Given the description of an element on the screen output the (x, y) to click on. 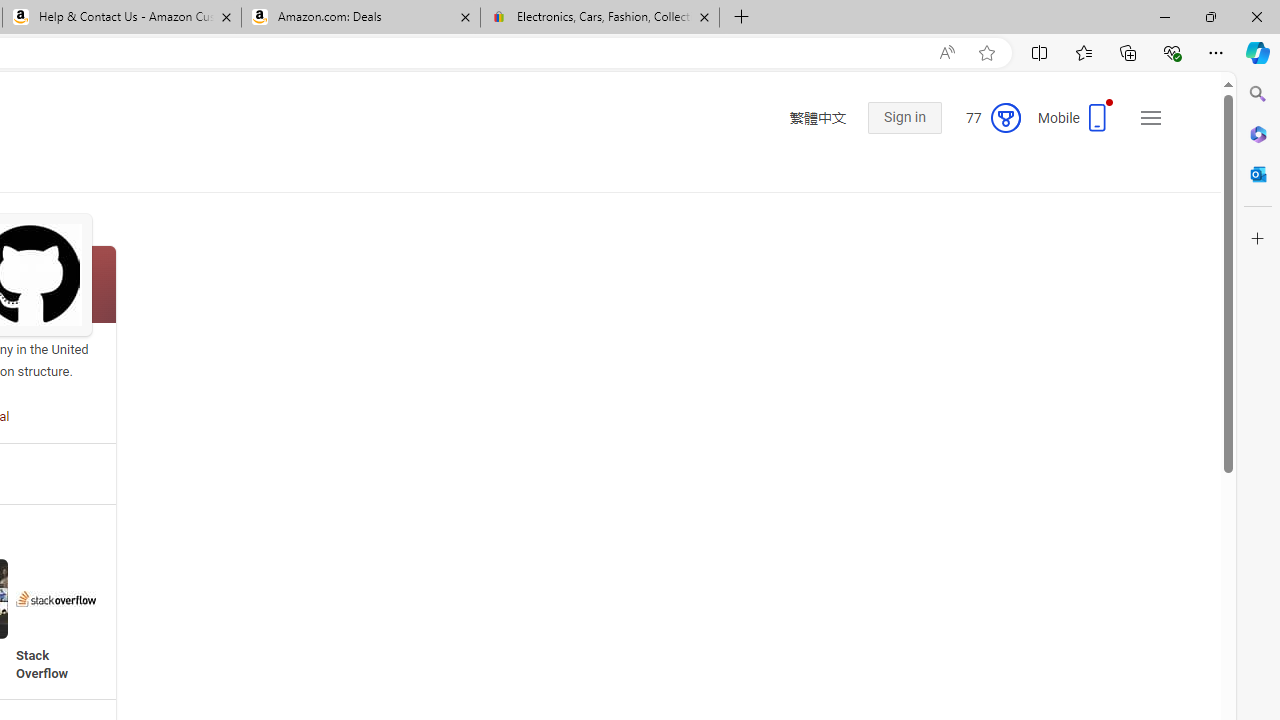
Explore more Stack Overflow (55, 620)
Stack Overflow (55, 598)
Mobile (1074, 124)
Settings and quick links (1150, 117)
